Given the description of an element on the screen output the (x, y) to click on. 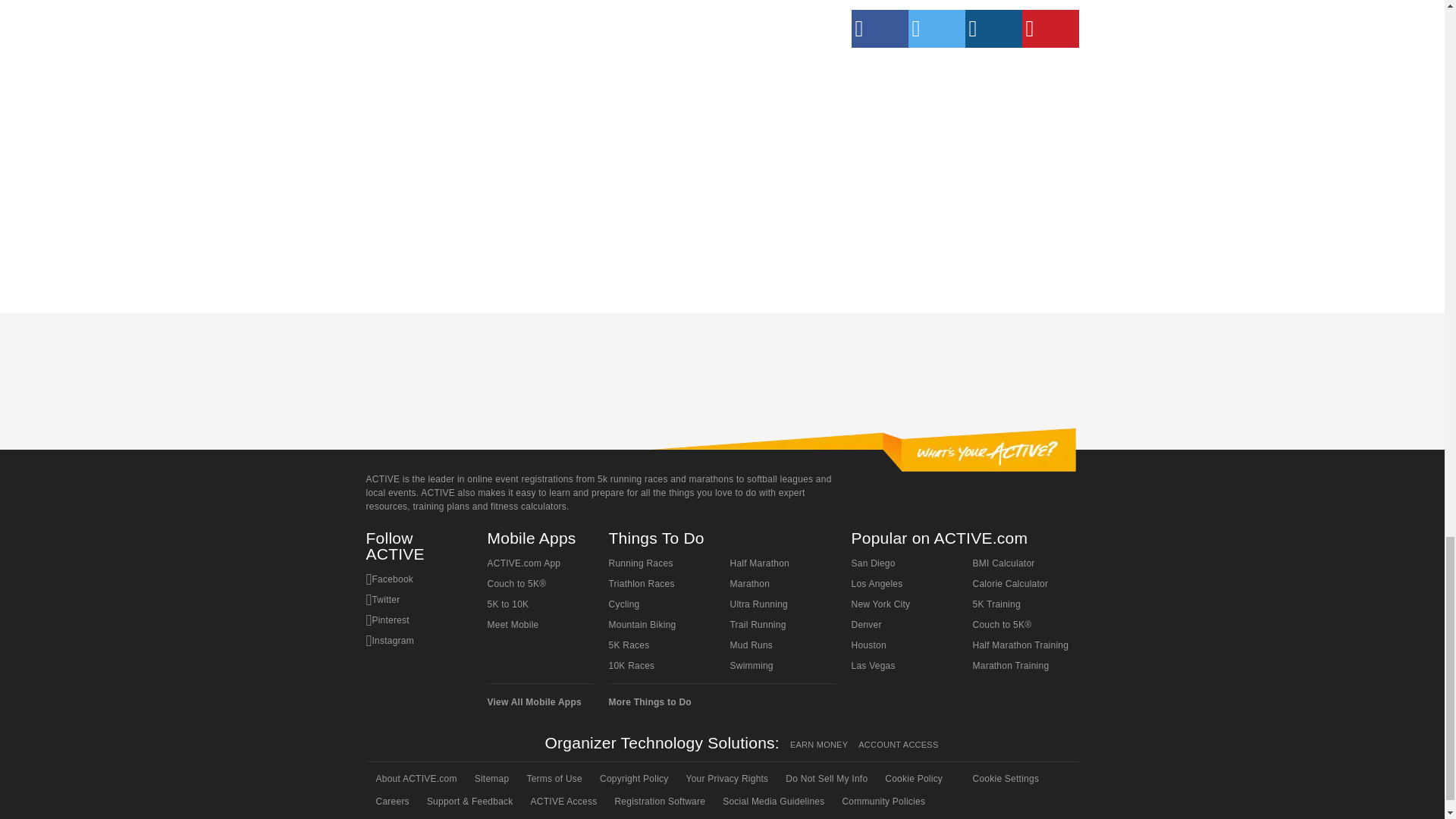
Cookie Policy (912, 778)
Careers at Active (390, 801)
Terms of Use (552, 778)
Your Privacy Rights: Updated (726, 778)
Copyright Policy (633, 778)
Do Not Sell My Info (825, 778)
